Given the description of an element on the screen output the (x, y) to click on. 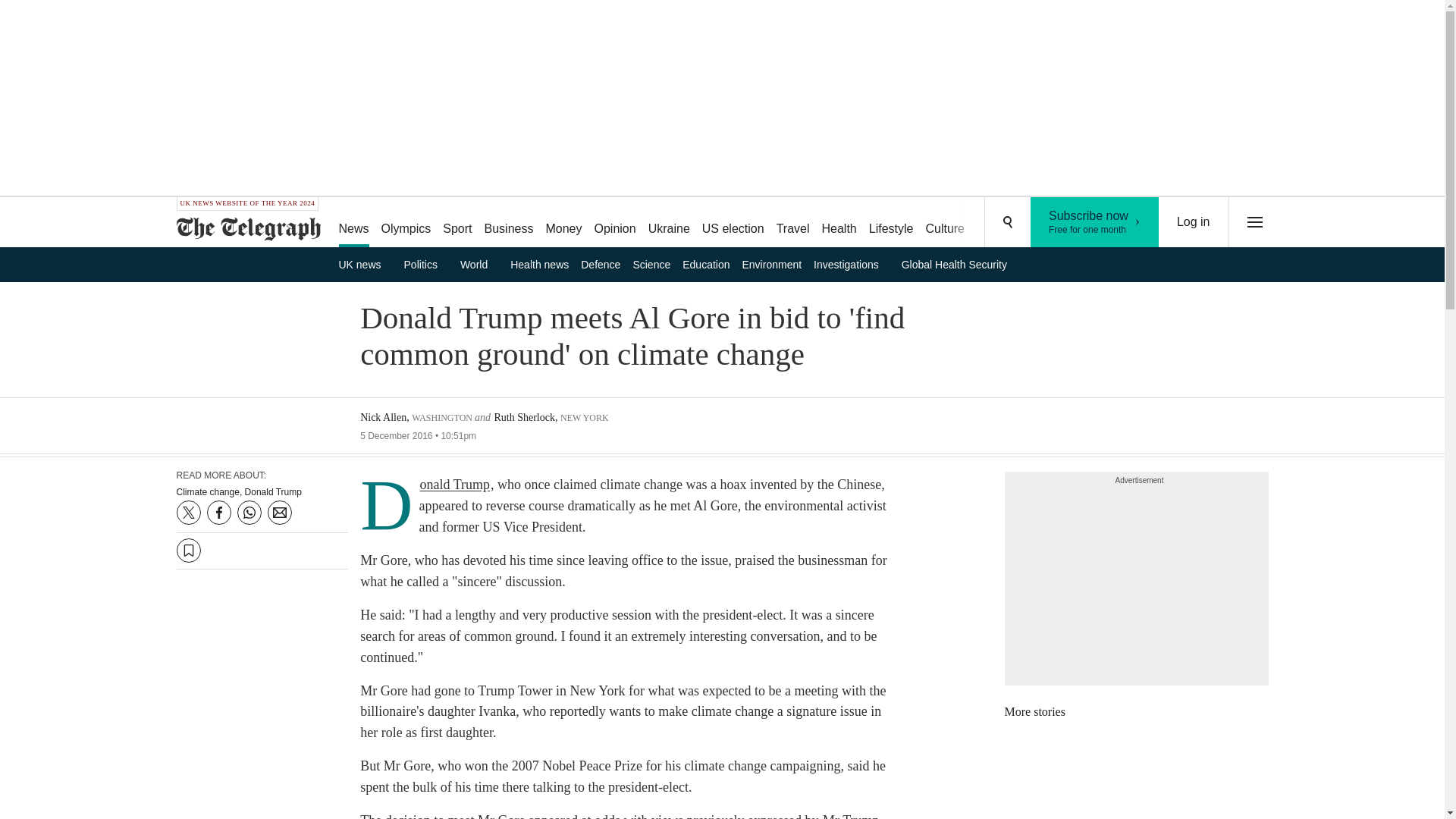
Ukraine (668, 223)
World (478, 264)
Money (563, 223)
Business (509, 223)
Politics (425, 264)
US election (732, 223)
UK news (364, 264)
Olympics (406, 223)
Health (838, 223)
Opinion (615, 223)
Lifestyle (891, 223)
Travel (792, 223)
Culture (944, 223)
Log in (1193, 222)
